Given the description of an element on the screen output the (x, y) to click on. 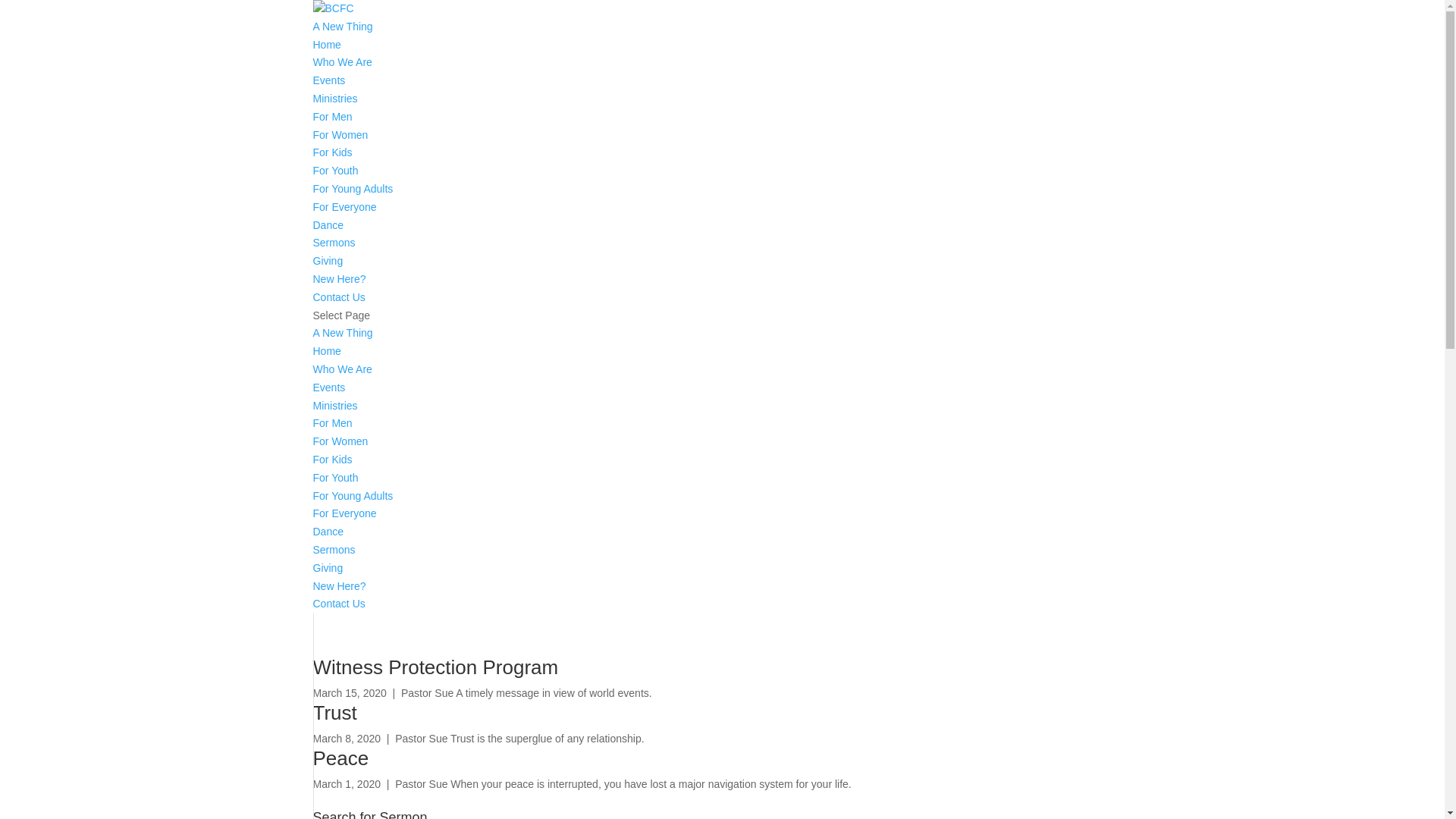
For Men Element type: text (331, 116)
Peace Element type: text (340, 757)
For Kids Element type: text (331, 152)
Sermons Element type: text (333, 242)
Who We Are Element type: text (341, 369)
Dance Element type: text (327, 531)
Home Element type: text (326, 44)
Contact Us Element type: text (338, 603)
For Everyone Element type: text (344, 513)
Dance Element type: text (327, 225)
Events Element type: text (328, 387)
For Women Element type: text (339, 441)
Ministries Element type: text (334, 405)
A New Thing Element type: text (342, 332)
For Women Element type: text (339, 134)
Events Element type: text (328, 80)
For Everyone Element type: text (344, 206)
For Kids Element type: text (331, 459)
Contact Us Element type: text (338, 297)
Home Element type: text (326, 351)
For Youth Element type: text (334, 477)
New Here? Element type: text (338, 585)
Sermons Element type: text (333, 549)
Witness Protection Program Element type: text (435, 666)
Ministries Element type: text (334, 98)
Giving Element type: text (327, 260)
Trust Element type: text (334, 712)
For Young Adults Element type: text (352, 495)
Who We Are Element type: text (341, 62)
For Men Element type: text (331, 423)
For Youth Element type: text (334, 170)
A New Thing Element type: text (342, 26)
Giving Element type: text (327, 567)
New Here? Element type: text (338, 279)
For Young Adults Element type: text (352, 188)
